Given the description of an element on the screen output the (x, y) to click on. 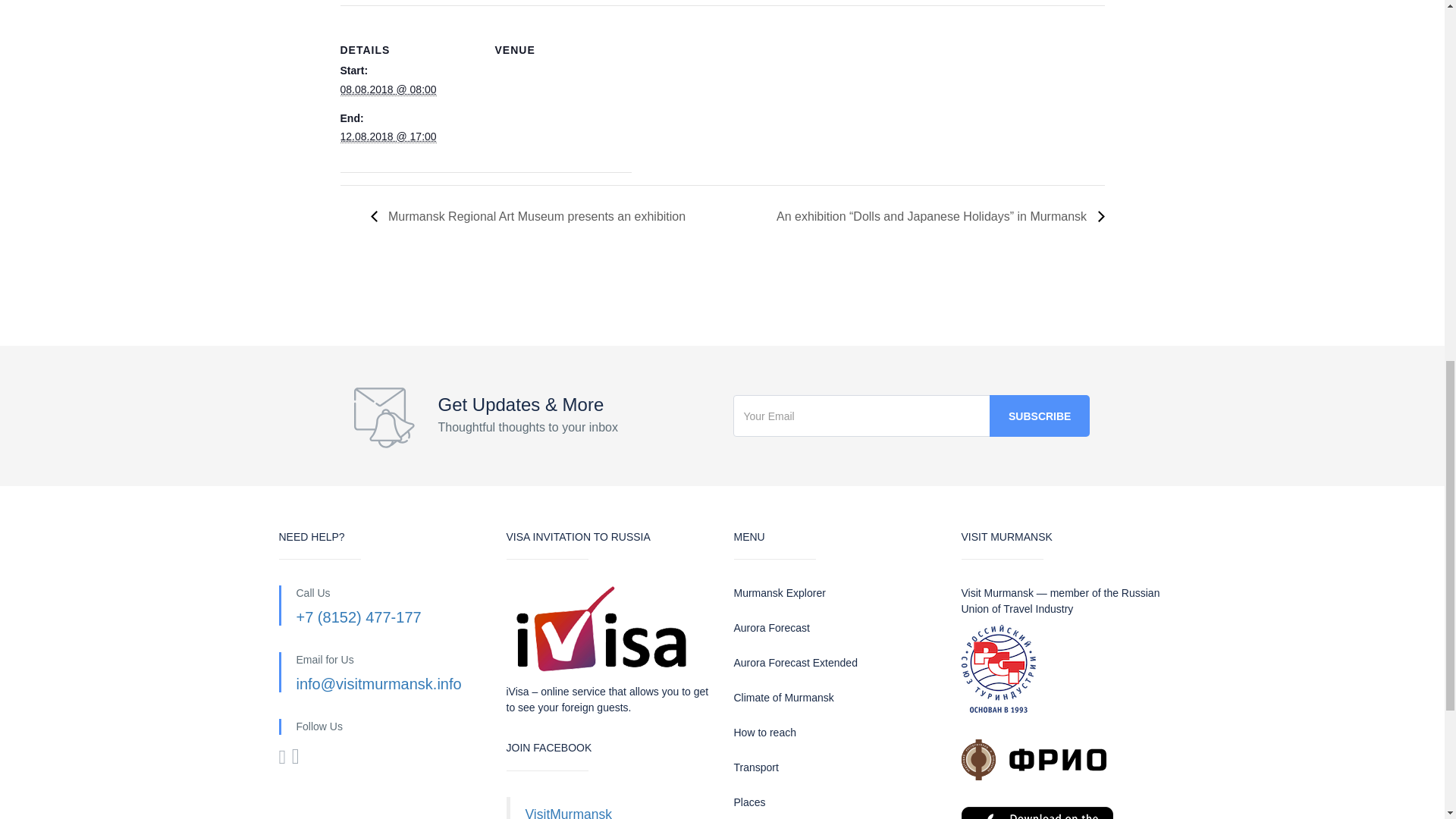
2018-08-08 (387, 89)
2018-08-12 (387, 136)
Subscribe (1039, 415)
Murmansk Regional Art Museum presents an exhibition (531, 215)
Subscribe (1039, 415)
